Given the description of an element on the screen output the (x, y) to click on. 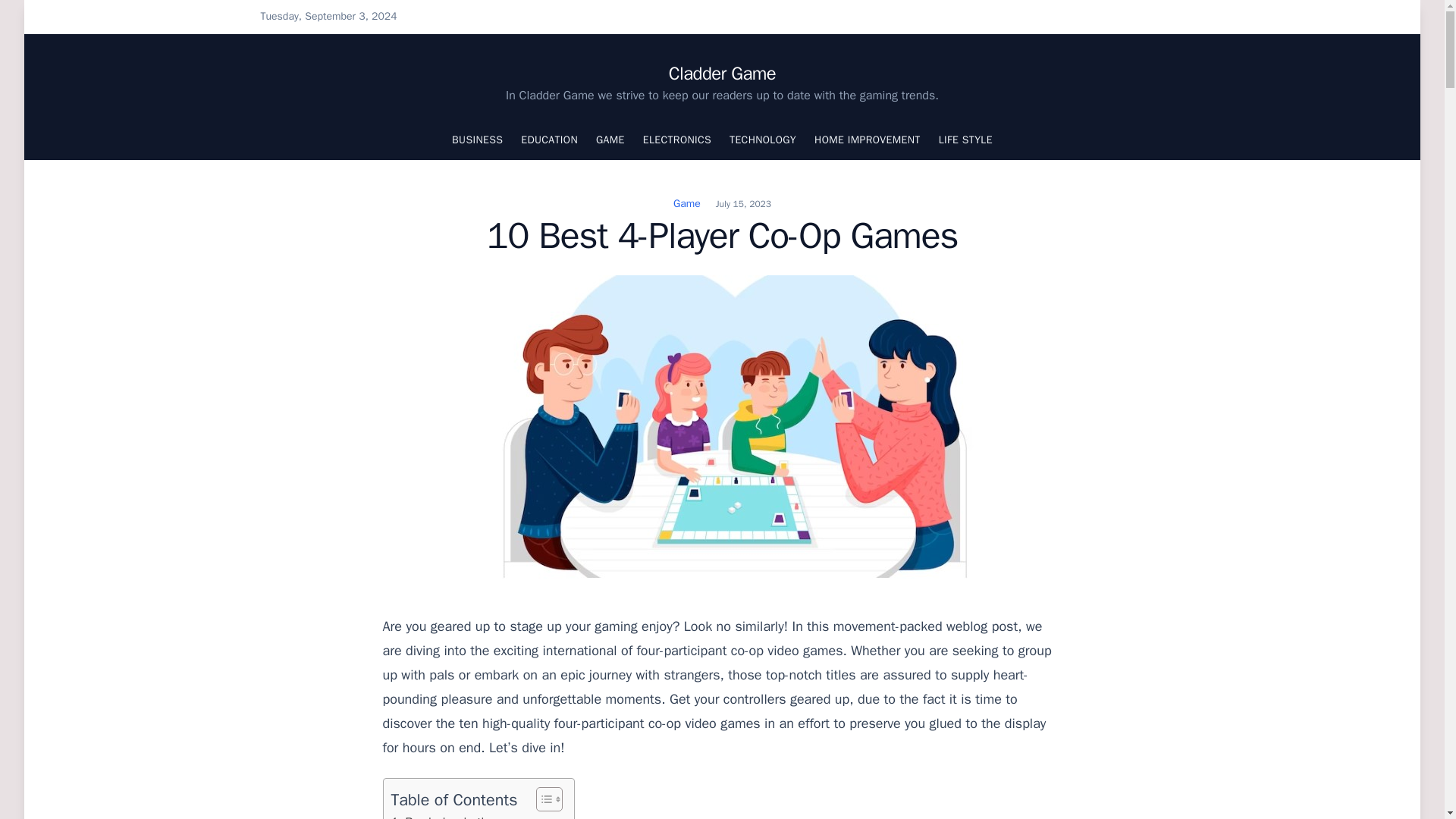
BUSINESS (476, 139)
July 15, 2023 (743, 203)
Game (686, 203)
Cladder Game (722, 73)
Borderlands three (448, 815)
ELECTRONICS (677, 139)
LIFE STYLE (965, 139)
Borderlands three (448, 815)
TECHNOLOGY (762, 139)
GAME (609, 139)
